Given the description of an element on the screen output the (x, y) to click on. 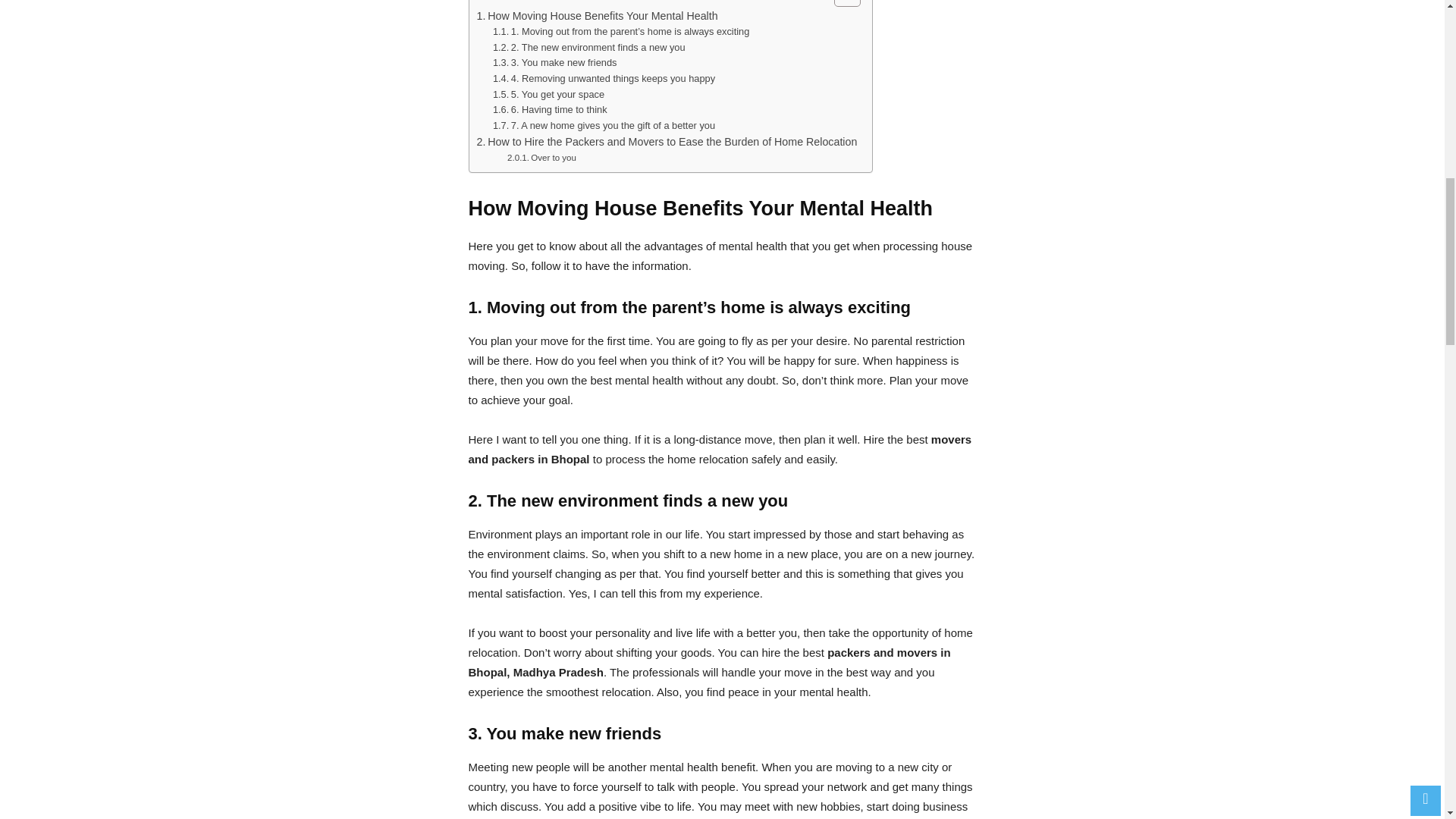
How Moving House Benefits Your Mental Health (596, 16)
4. Removing unwanted things keeps you happy (603, 78)
3. You make new friends (555, 63)
4. Removing unwanted things keeps you happy (603, 78)
2. The new environment finds a new you (589, 48)
7. A new home gives you the gift of a better you (603, 125)
2. The new environment finds a new you (589, 48)
Over to you (541, 157)
3. You make new friends (555, 63)
5. You get your space (548, 94)
